Given the description of an element on the screen output the (x, y) to click on. 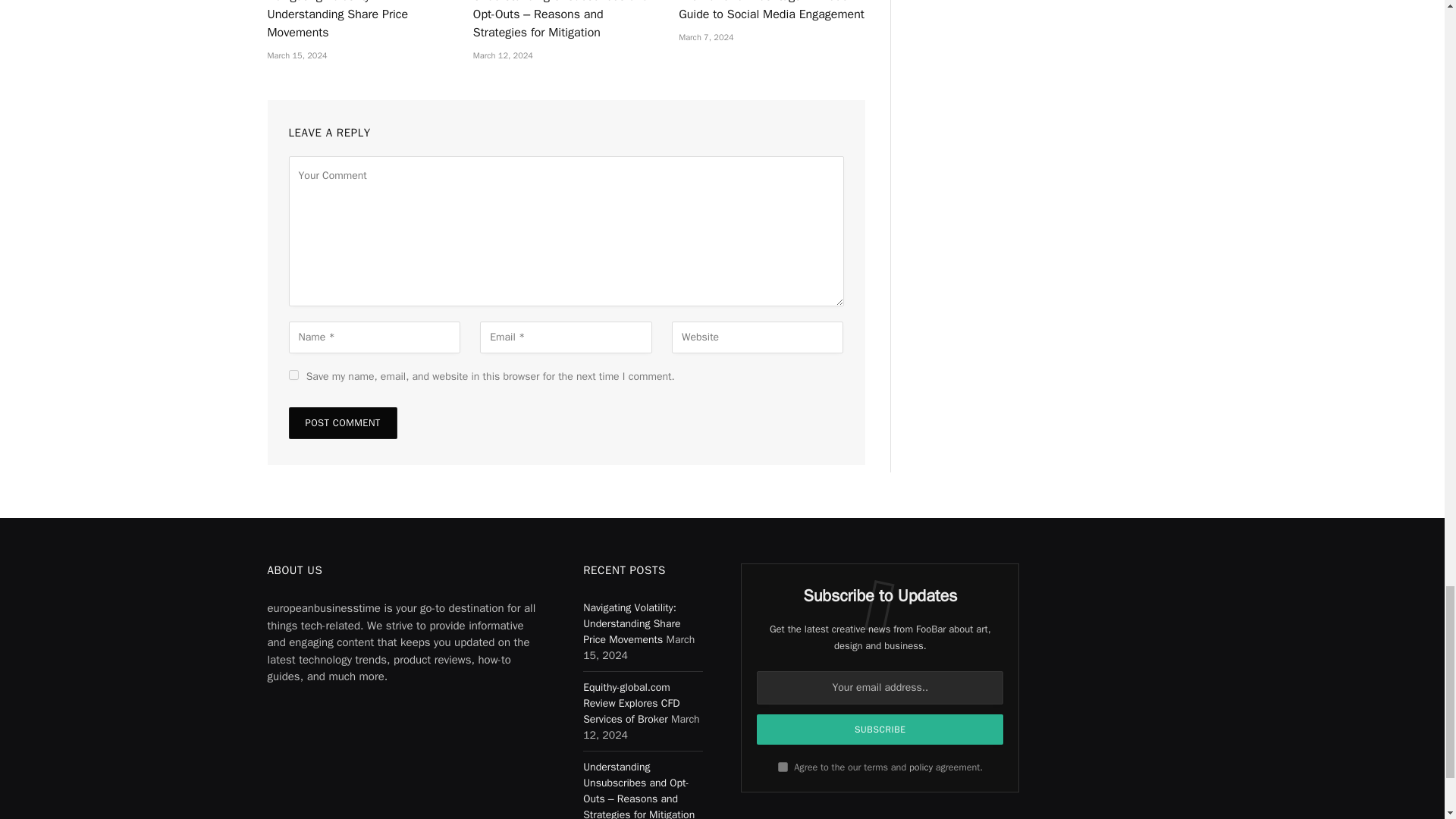
Post Comment (342, 422)
Post Comment (342, 422)
Navigating Volatility: Understanding Share Price Movements (359, 20)
Subscribe (880, 729)
yes (293, 375)
on (782, 767)
